Given the description of an element on the screen output the (x, y) to click on. 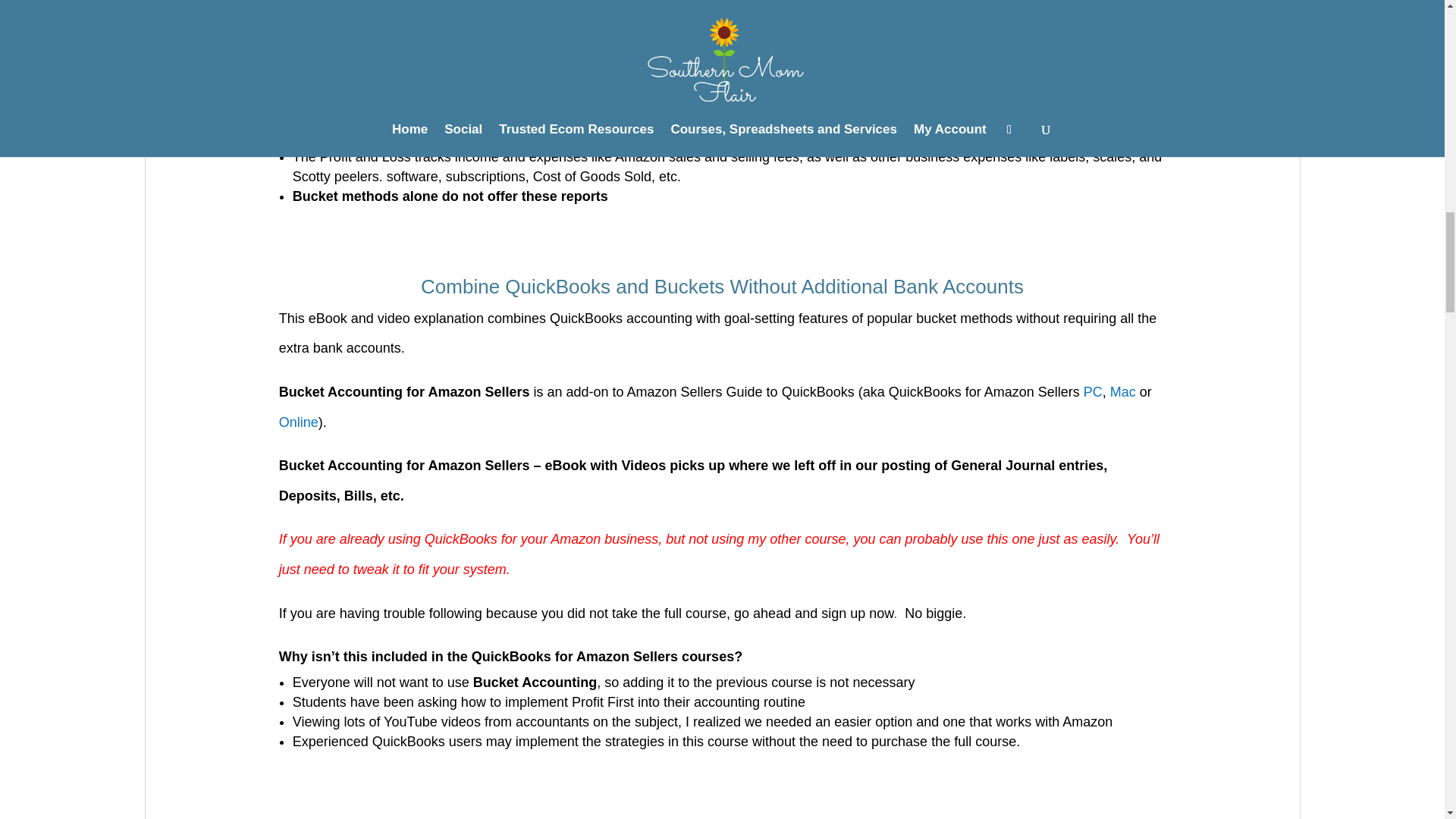
Mac (1122, 391)
PC (1092, 391)
Online (298, 421)
